Given the description of an element on the screen output the (x, y) to click on. 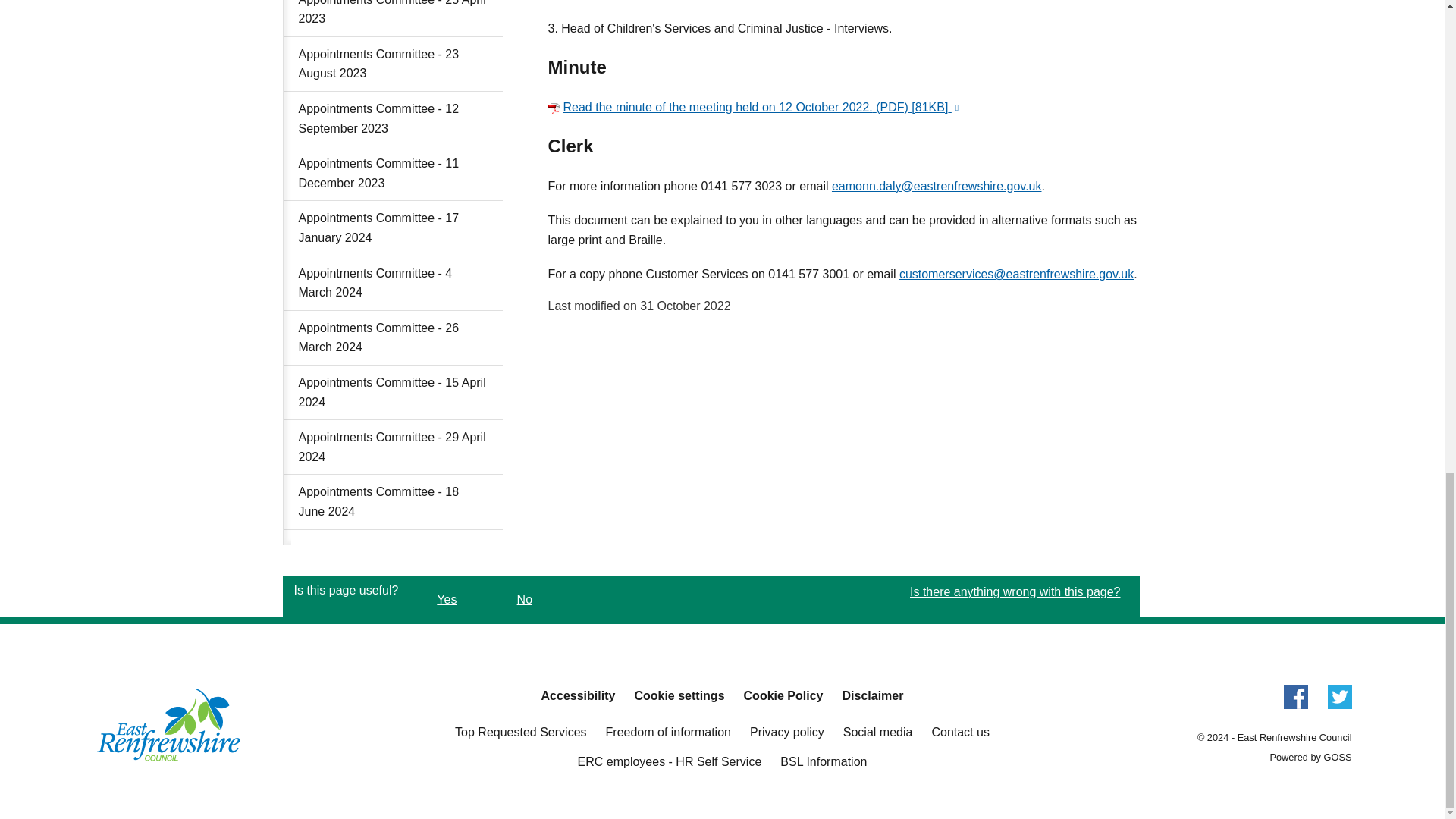
Appointments Committee - 17 January 2024 (392, 227)
Appointments Committee - 25 April 2023 (392, 18)
Appointments Committee - 11 December 2023 (392, 173)
Facebook (1295, 703)
Appointments Committee - 23 August 2023 (392, 63)
Appointments Committee - 12 September 2023 (392, 118)
Appointments Committee - 4 March 2024 (392, 283)
Twitter (1338, 703)
